Given the description of an element on the screen output the (x, y) to click on. 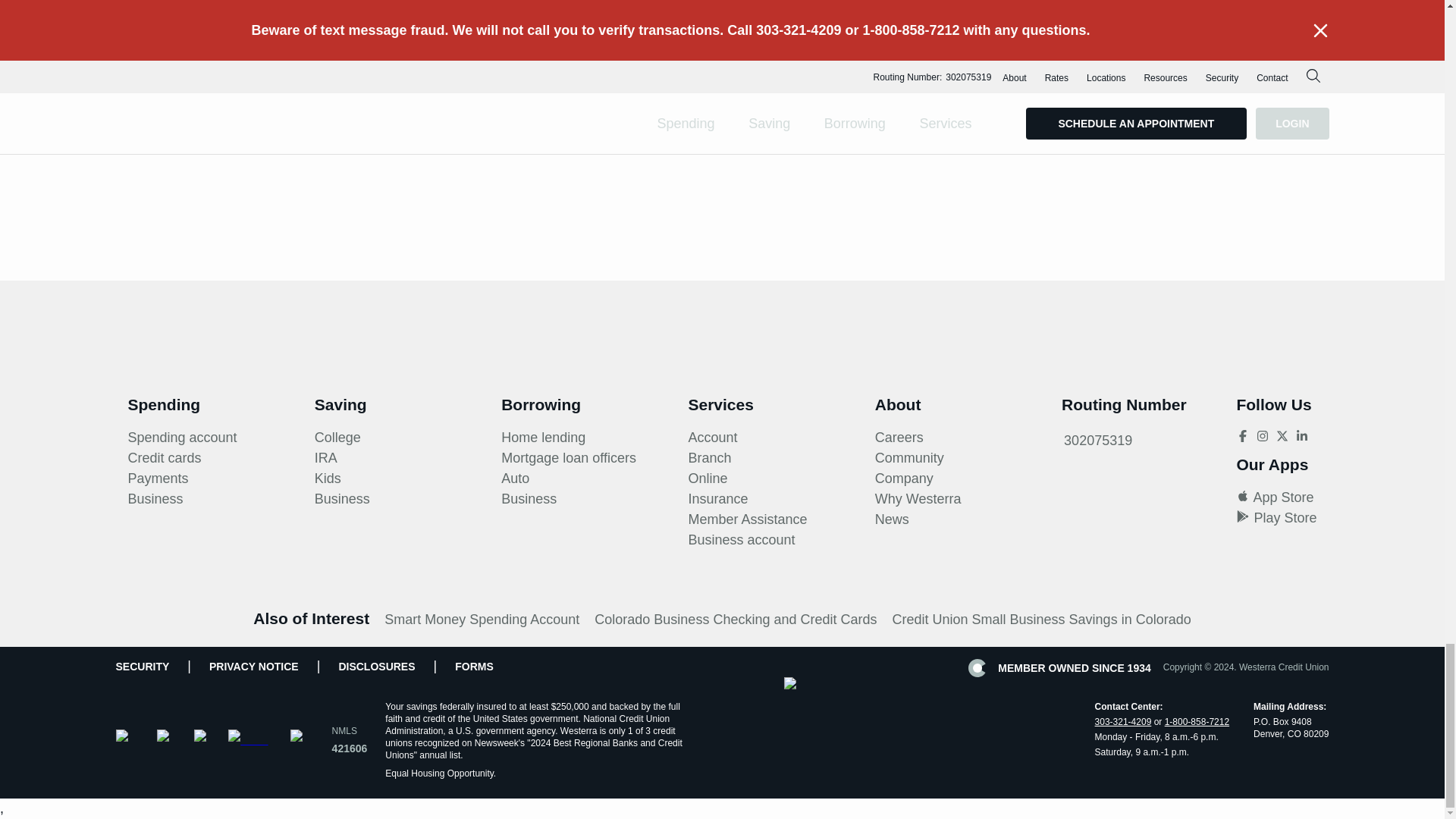
Credit cards (164, 457)
Spending account (181, 437)
Payments (157, 478)
Business (155, 498)
